Given the description of an element on the screen output the (x, y) to click on. 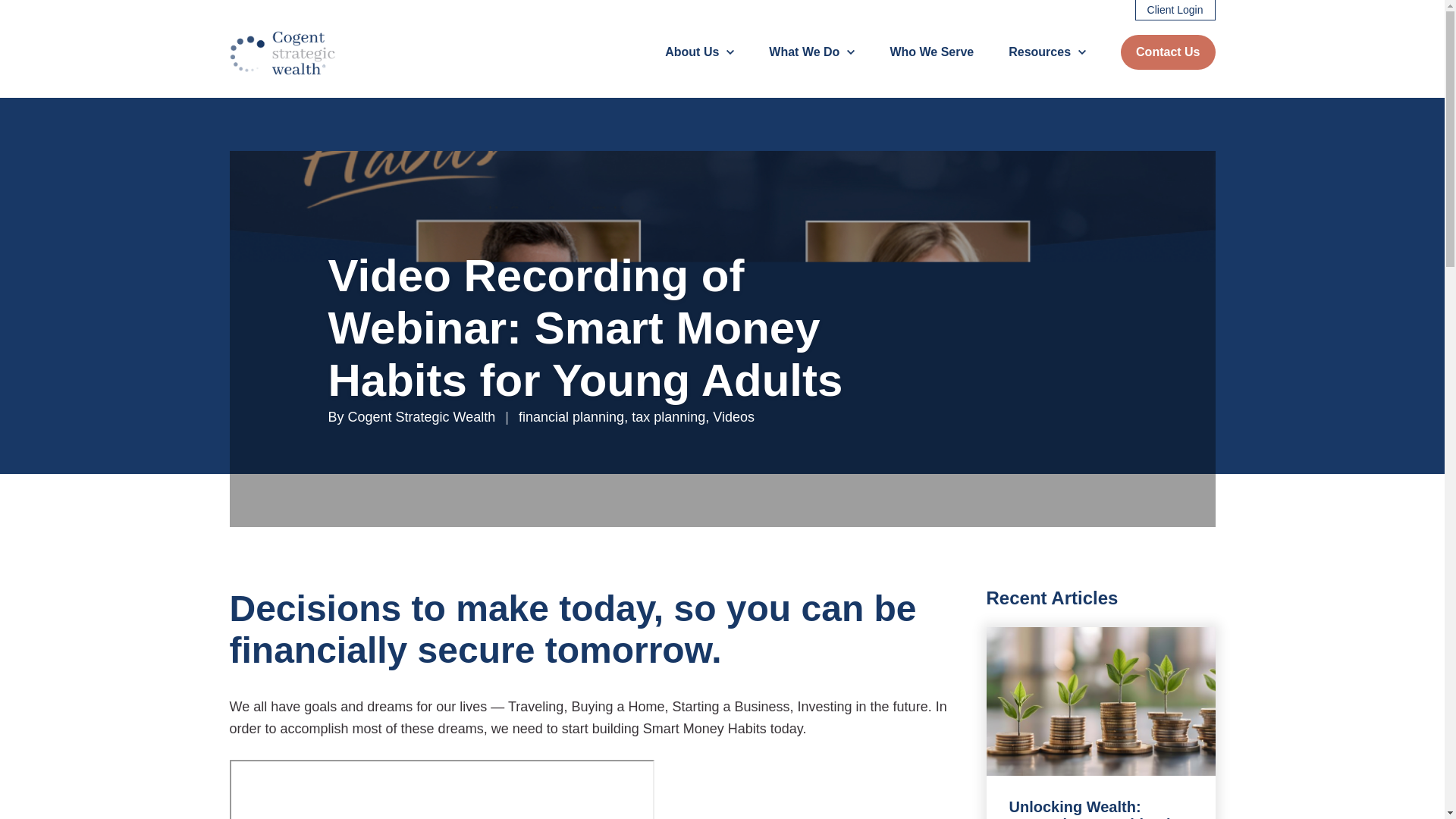
Resources (1047, 52)
Contact Us (1167, 52)
What We Do (811, 52)
About Us (699, 52)
Who We Serve (931, 52)
Client Login (1175, 10)
